Given the description of an element on the screen output the (x, y) to click on. 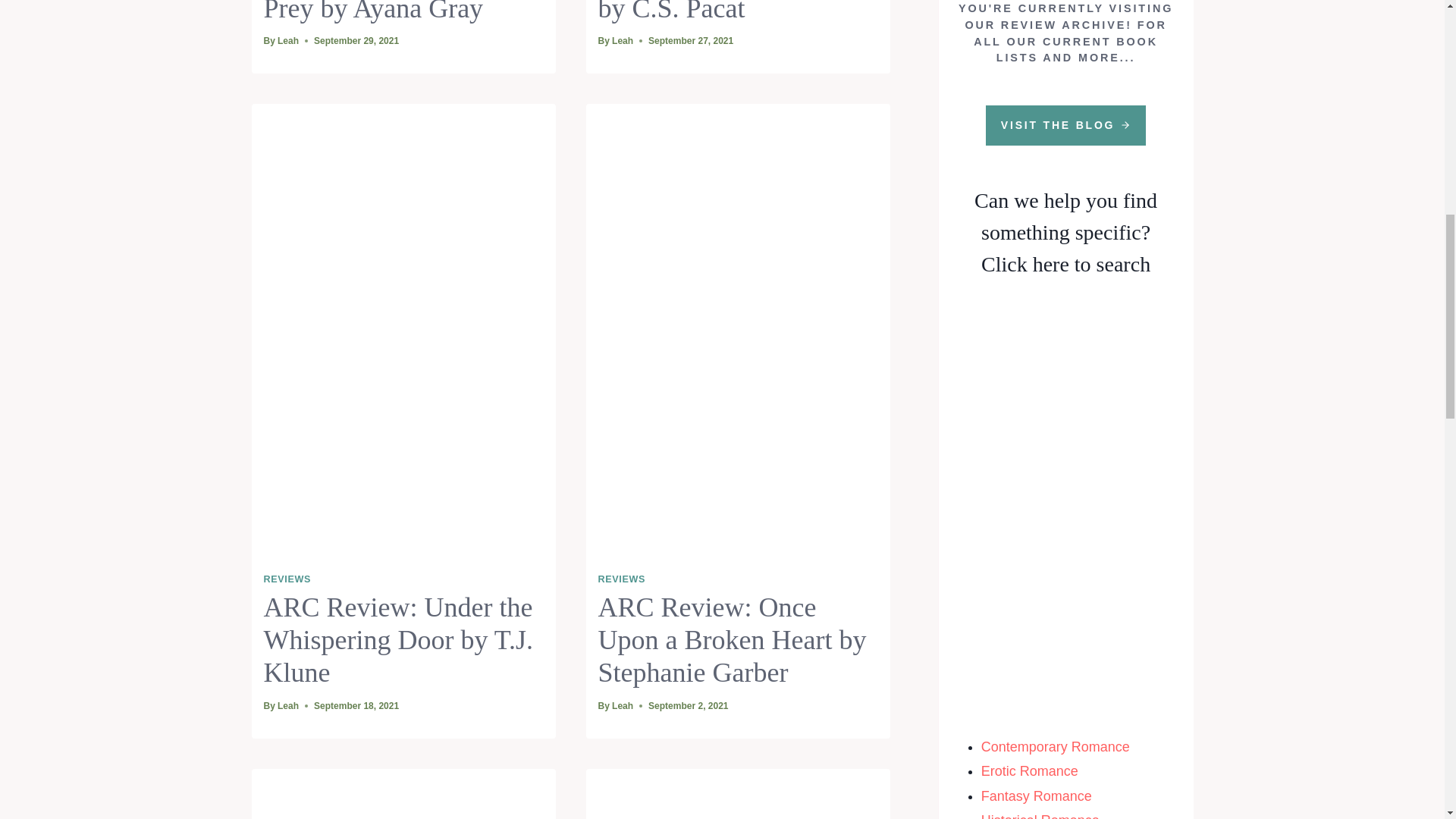
Leah (288, 40)
Leah (622, 40)
ARC Review: Beasts of Prey by Ayana Gray (394, 11)
REVIEWS (287, 579)
Leah (288, 706)
ARC Revew: Dark Rise by C.S. Pacat (729, 11)
ARC Review: Under the Whispering Door by T.J. Klune (398, 639)
